Given the description of an element on the screen output the (x, y) to click on. 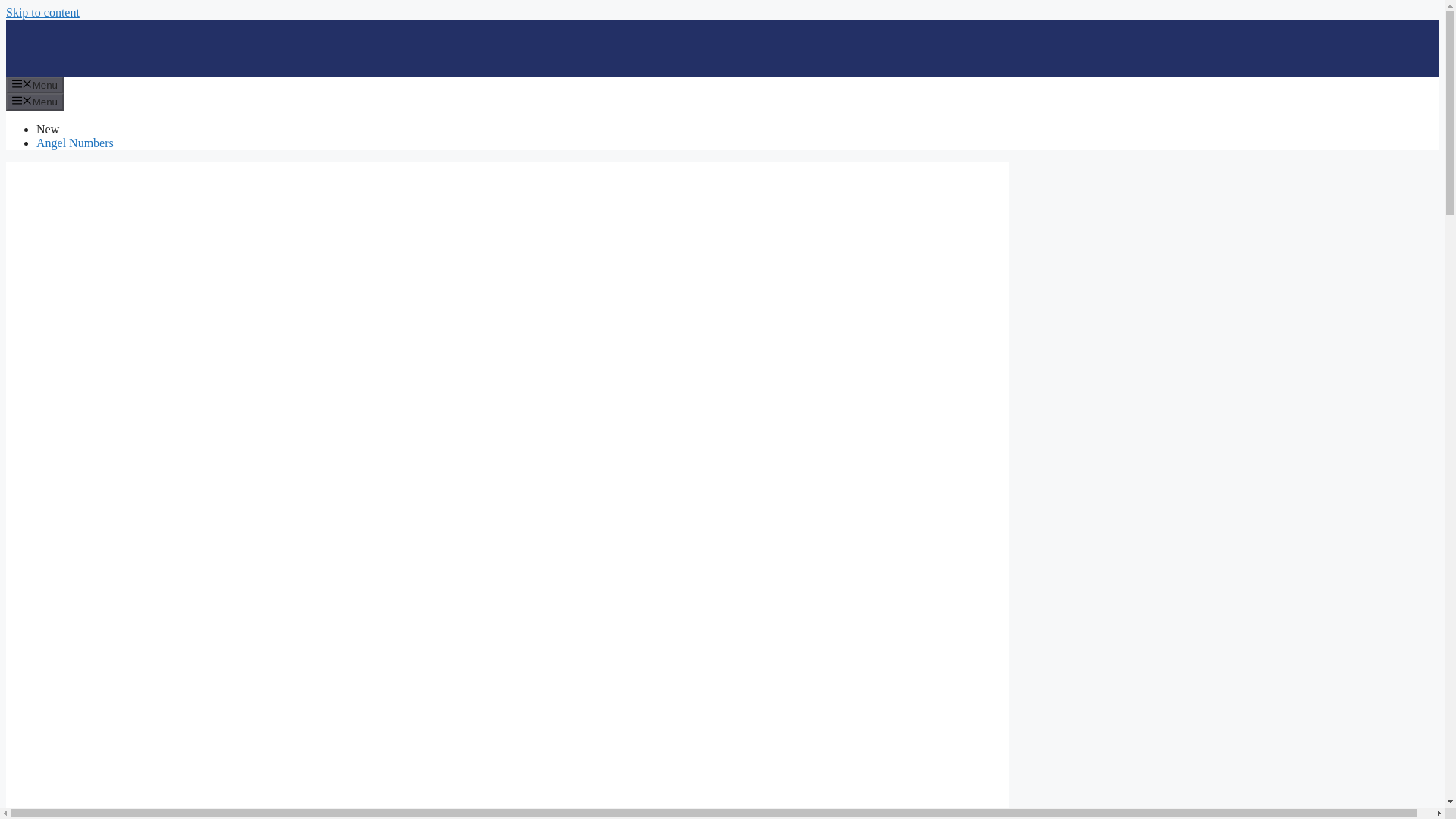
Menu (34, 101)
New (47, 128)
Skip to content (42, 11)
Skip to content (42, 11)
Menu (34, 84)
Angel Numbers (74, 142)
